Given the description of an element on the screen output the (x, y) to click on. 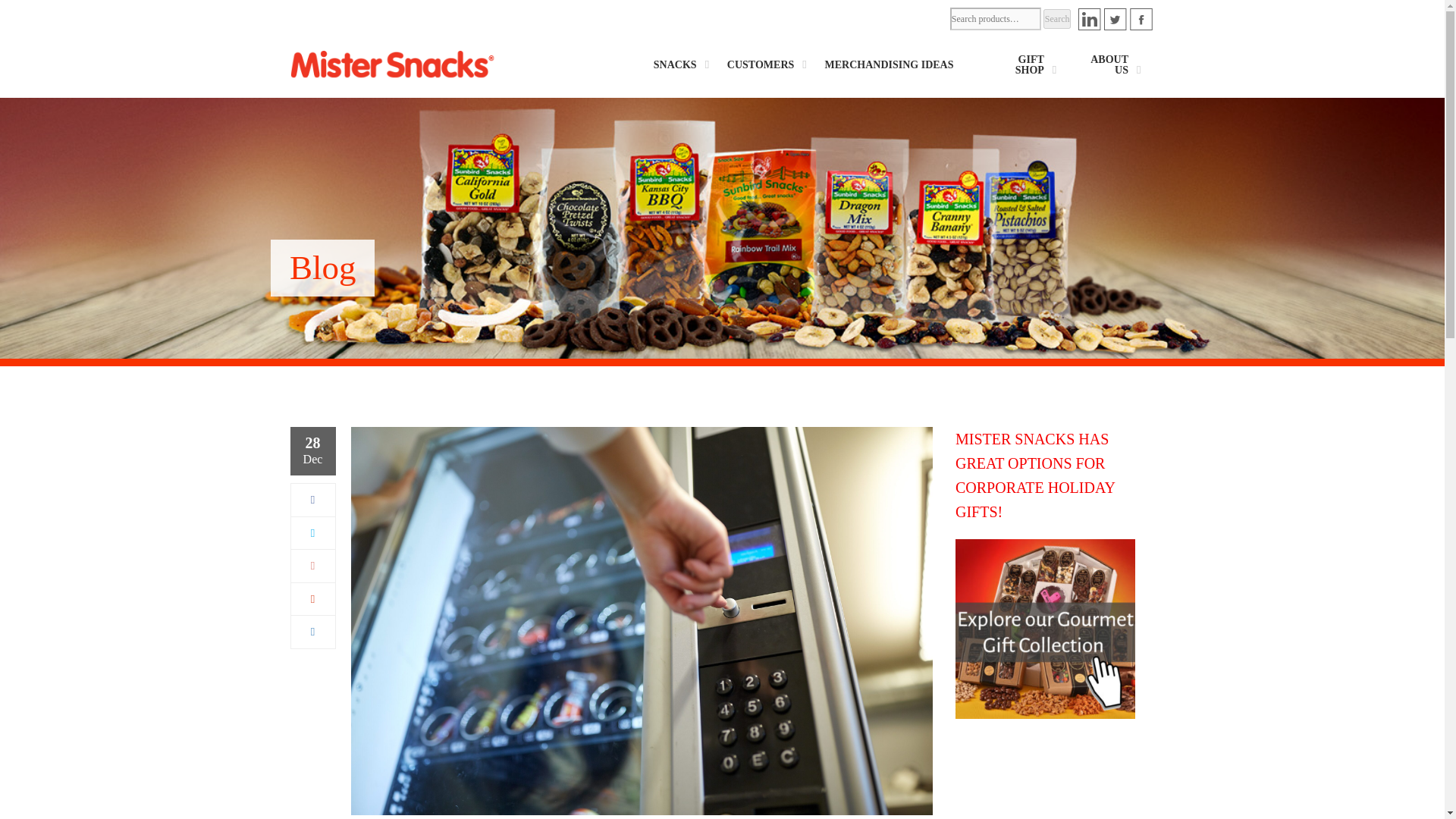
Pinterest (312, 598)
LinkedIn (312, 631)
Facebook (312, 499)
Twitter (312, 532)
Search (1057, 19)
Mister Snacks - Good Food, Great Snacks! (392, 63)
